Given the description of an element on the screen output the (x, y) to click on. 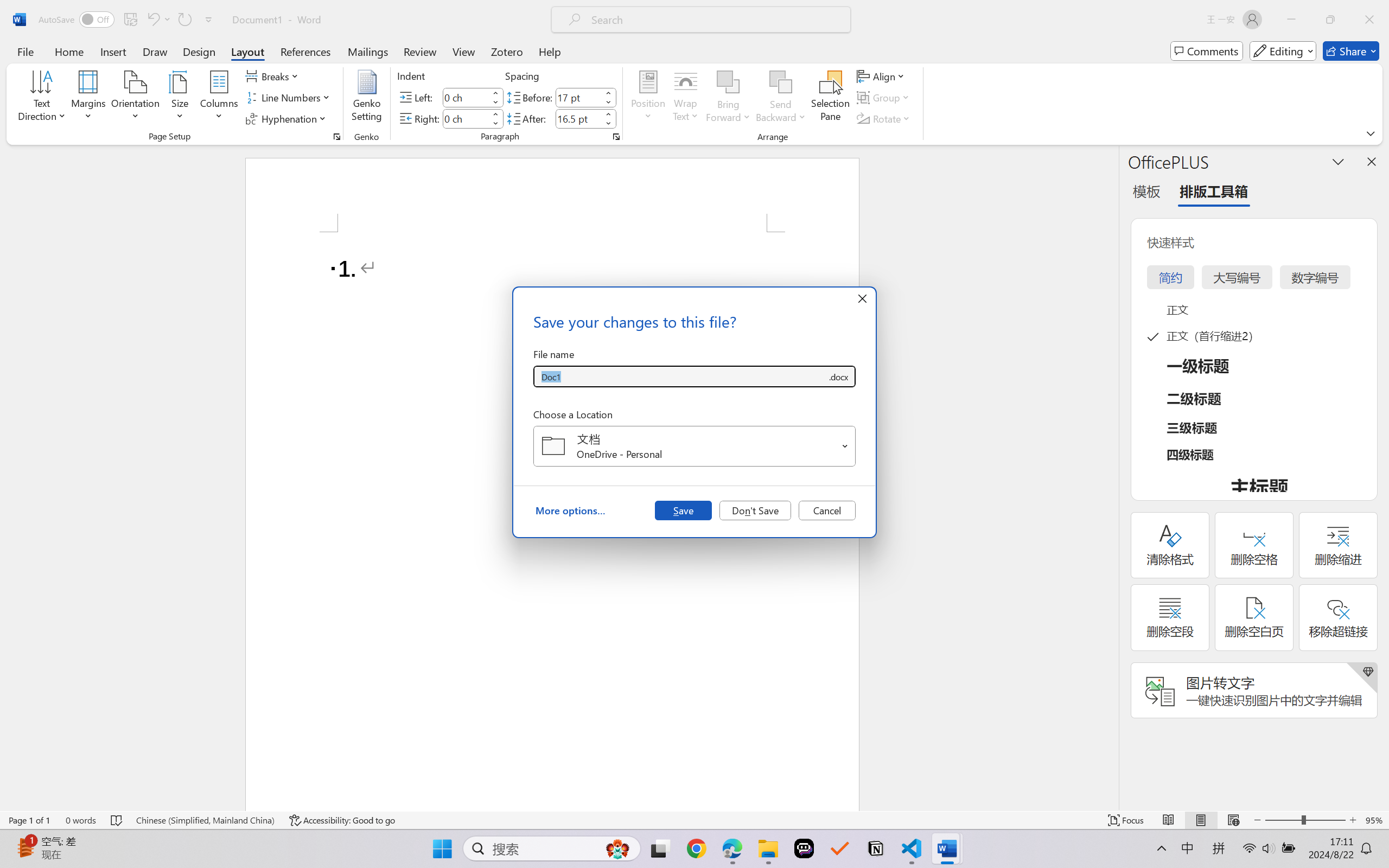
Position (647, 97)
Margins (88, 97)
Language Chinese (Simplified, Mainland China) (205, 819)
Spacing Before (578, 96)
Save as type (837, 376)
File name (680, 376)
Rotate (884, 118)
